Given the description of an element on the screen output the (x, y) to click on. 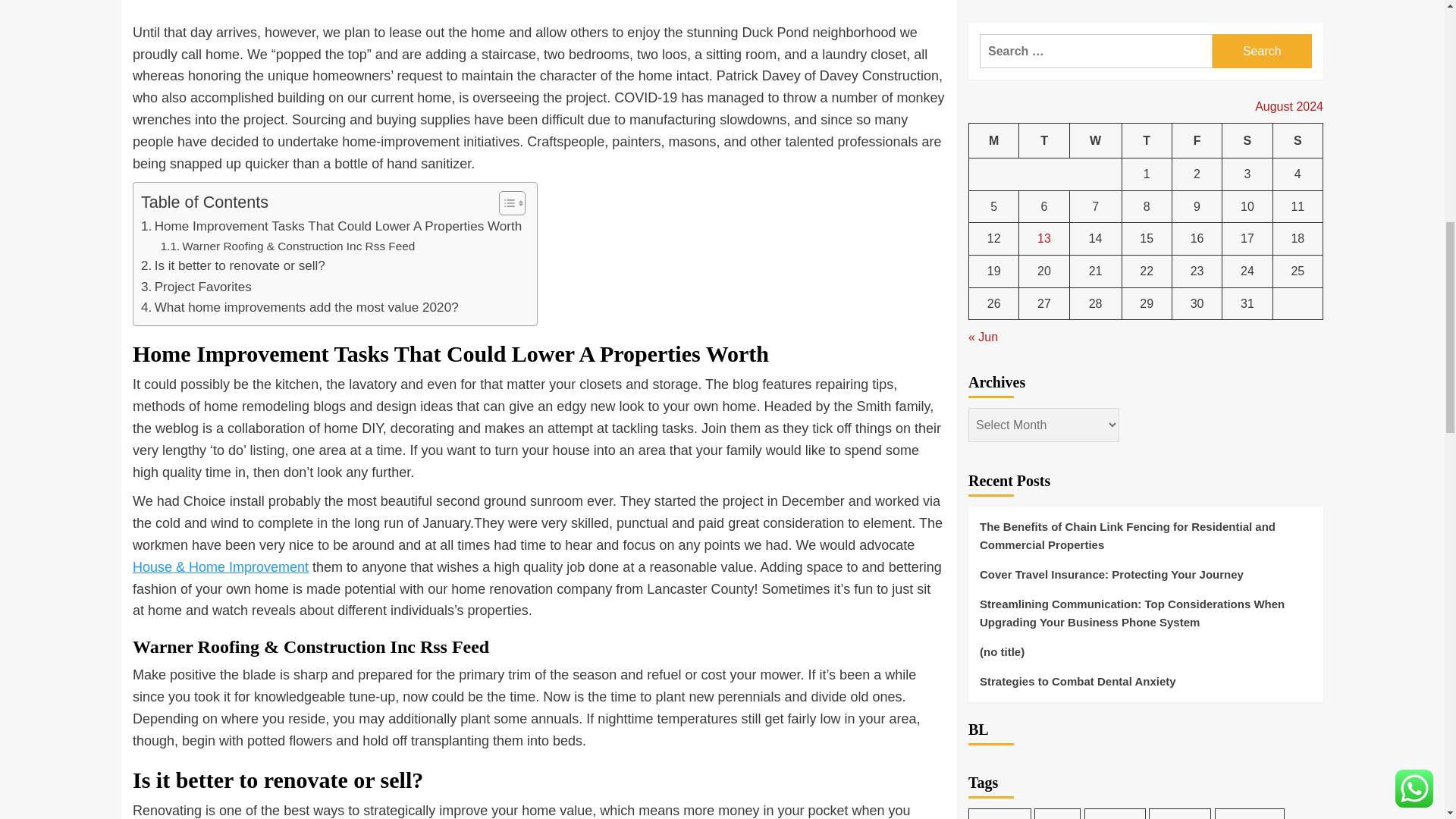
Project Favorites (196, 286)
Is it better to renovate or sell? (232, 265)
Home Improvement Tasks That Could Lower A Properties Worth (331, 226)
Home Improvement Tasks That Could Lower A Properties Worth (331, 226)
What home improvements add the most value 2020? (299, 307)
What home improvements add the most value 2020? (299, 307)
Project Favorites (196, 286)
Is it better to renovate or sell? (232, 265)
